Given the description of an element on the screen output the (x, y) to click on. 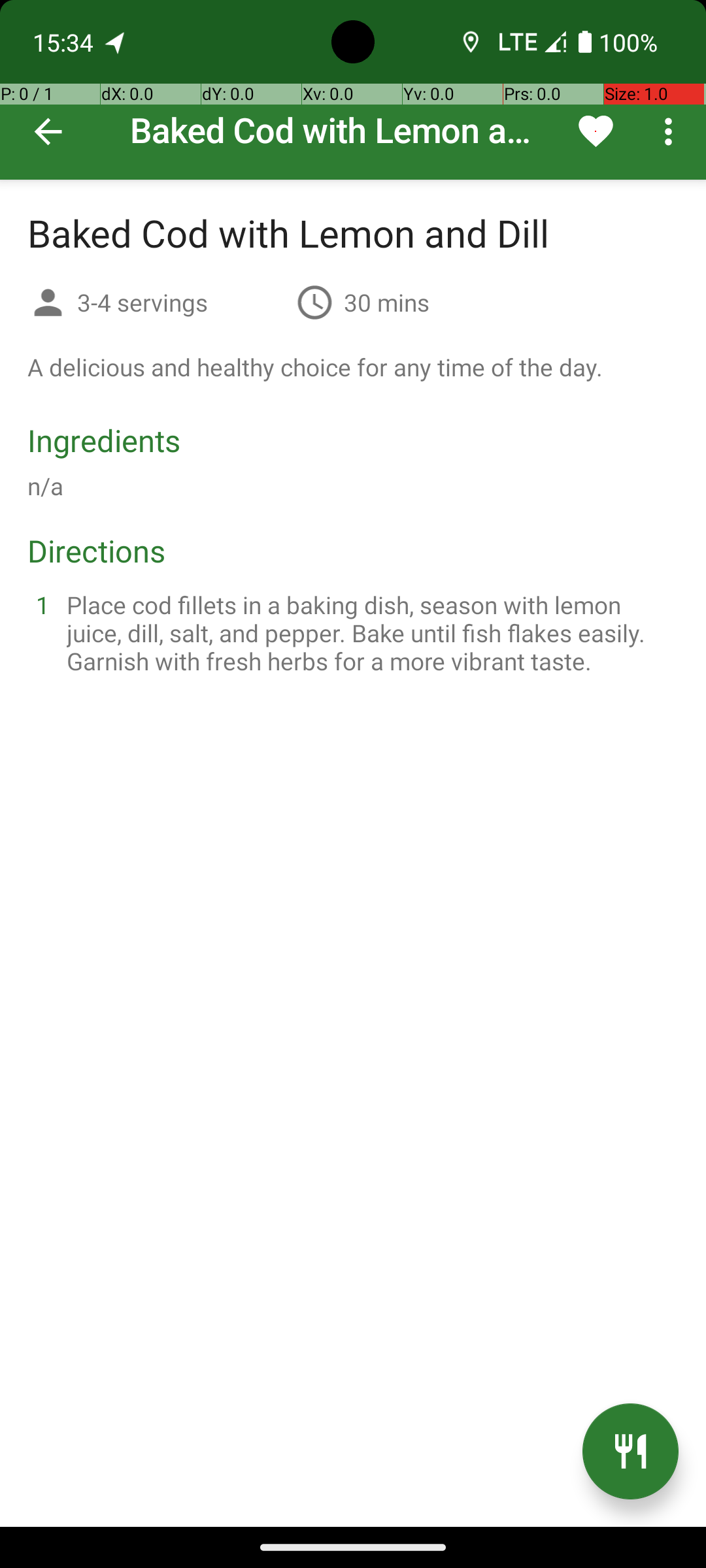
Place cod fillets in a baking dish, season with lemon juice, dill, salt, and pepper. Bake until fish flakes easily. Garnish with fresh herbs for a more vibrant taste. Element type: android.widget.TextView (368, 632)
